Given the description of an element on the screen output the (x, y) to click on. 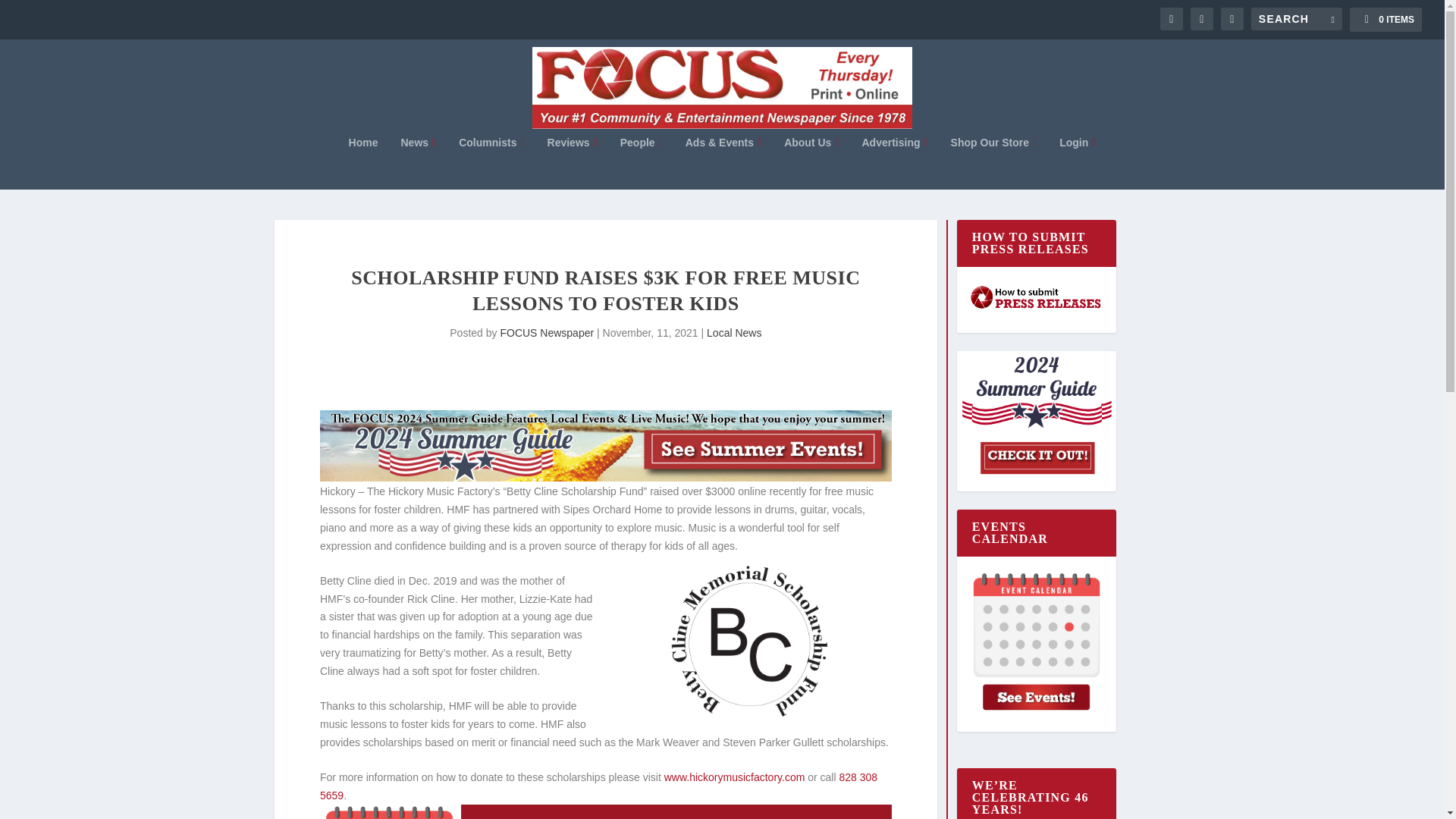
Reviews (571, 162)
0 ITEMS (1385, 19)
Search for: (1296, 18)
About Us (811, 162)
Shop Our Store (993, 162)
0 Items in Cart (1385, 19)
Columnists (491, 162)
Advertising (894, 162)
Posts by FOCUS Newspaper (546, 332)
